Given the description of an element on the screen output the (x, y) to click on. 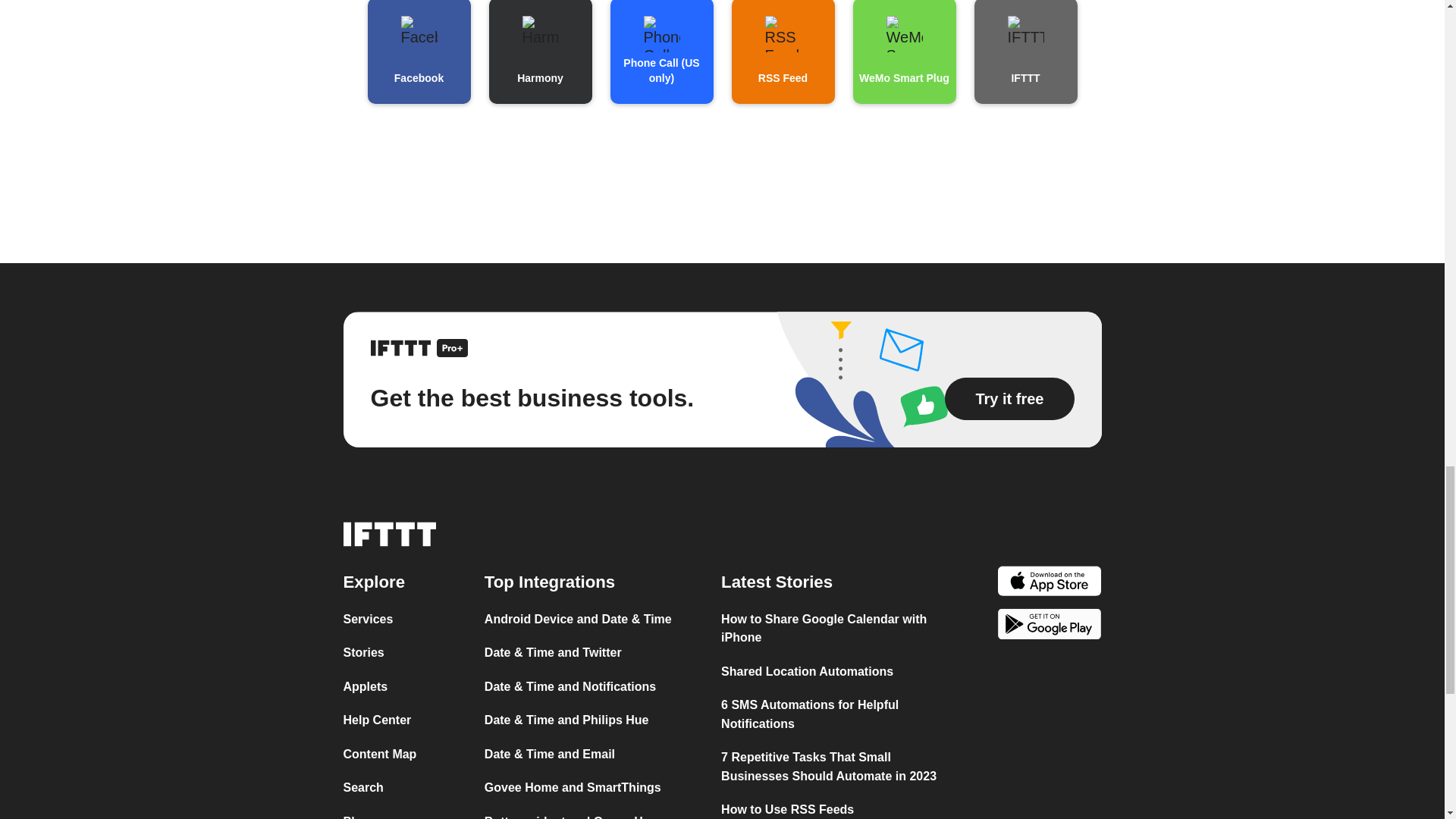
Facebook (418, 52)
